Given the description of an element on the screen output the (x, y) to click on. 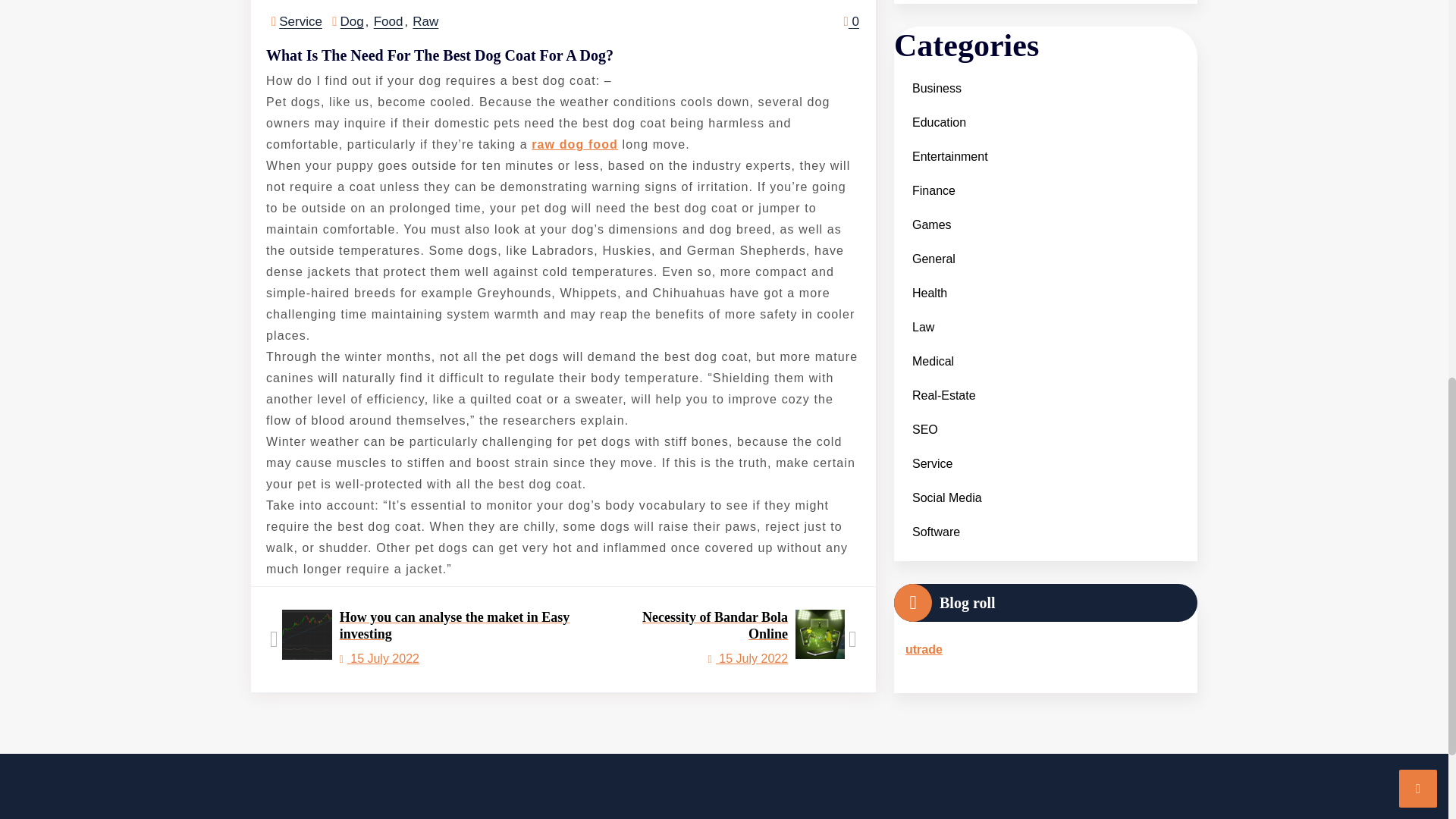
Food (388, 21)
Finance (933, 99)
Service (300, 21)
Entertainment (949, 66)
raw dog food (574, 144)
Raw (425, 21)
Dog (352, 21)
Education (938, 31)
Games (732, 639)
Business (435, 639)
 0 (931, 134)
